Given the description of an element on the screen output the (x, y) to click on. 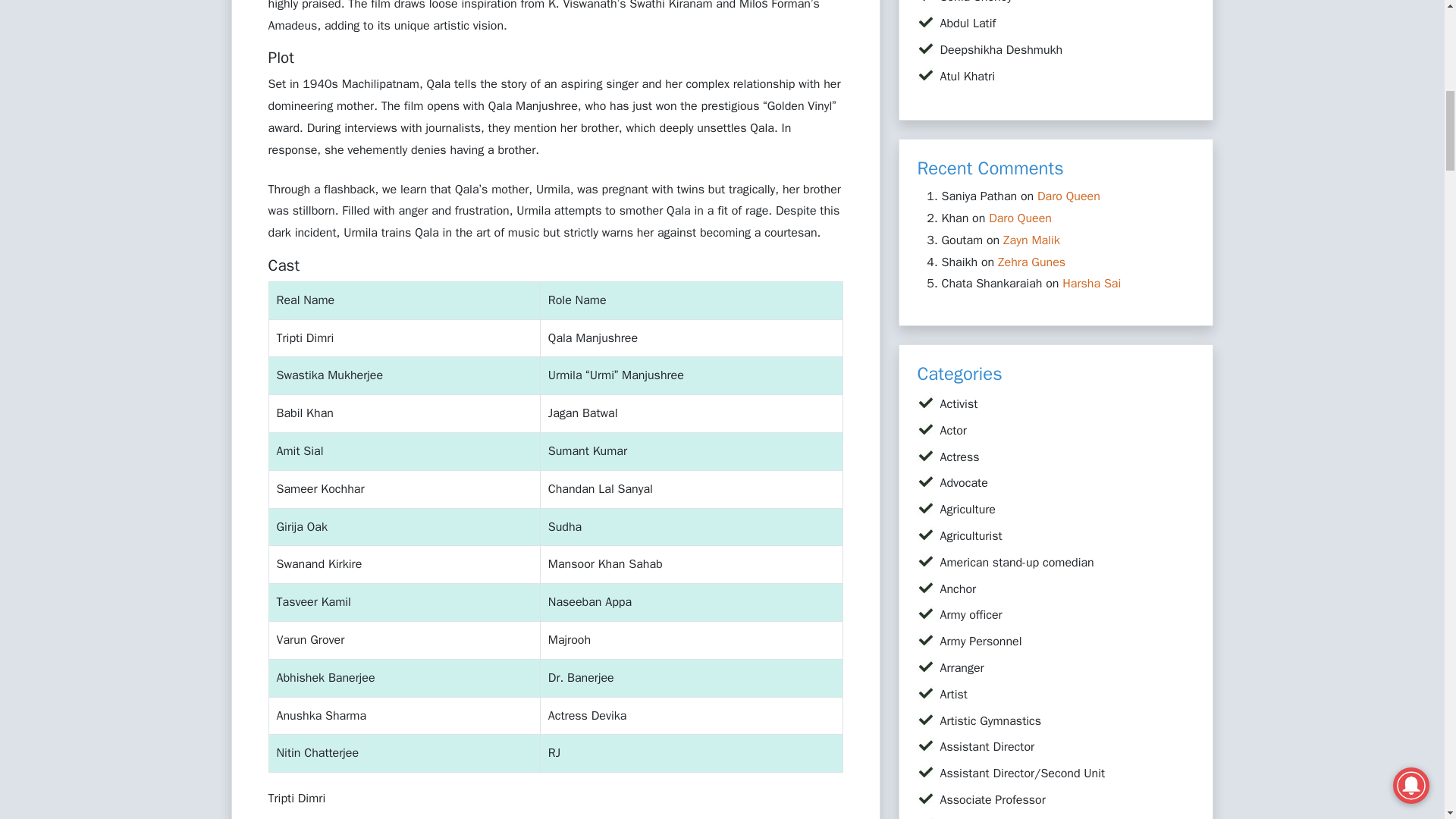
Army officer (971, 614)
Daro Queen (1019, 218)
American stand-up comedian (1017, 562)
Army Personnel (981, 641)
Atul Khatri (967, 76)
Agriculturist (971, 535)
Harsha Sai (1091, 283)
Sonia Shenoy (976, 2)
Deepshikha Deshmukh (1001, 49)
Actress (959, 457)
Activist (959, 403)
Daro Queen (1068, 196)
Agriculture (967, 509)
Abdul Latif (967, 23)
Zayn Malik (1031, 240)
